Given the description of an element on the screen output the (x, y) to click on. 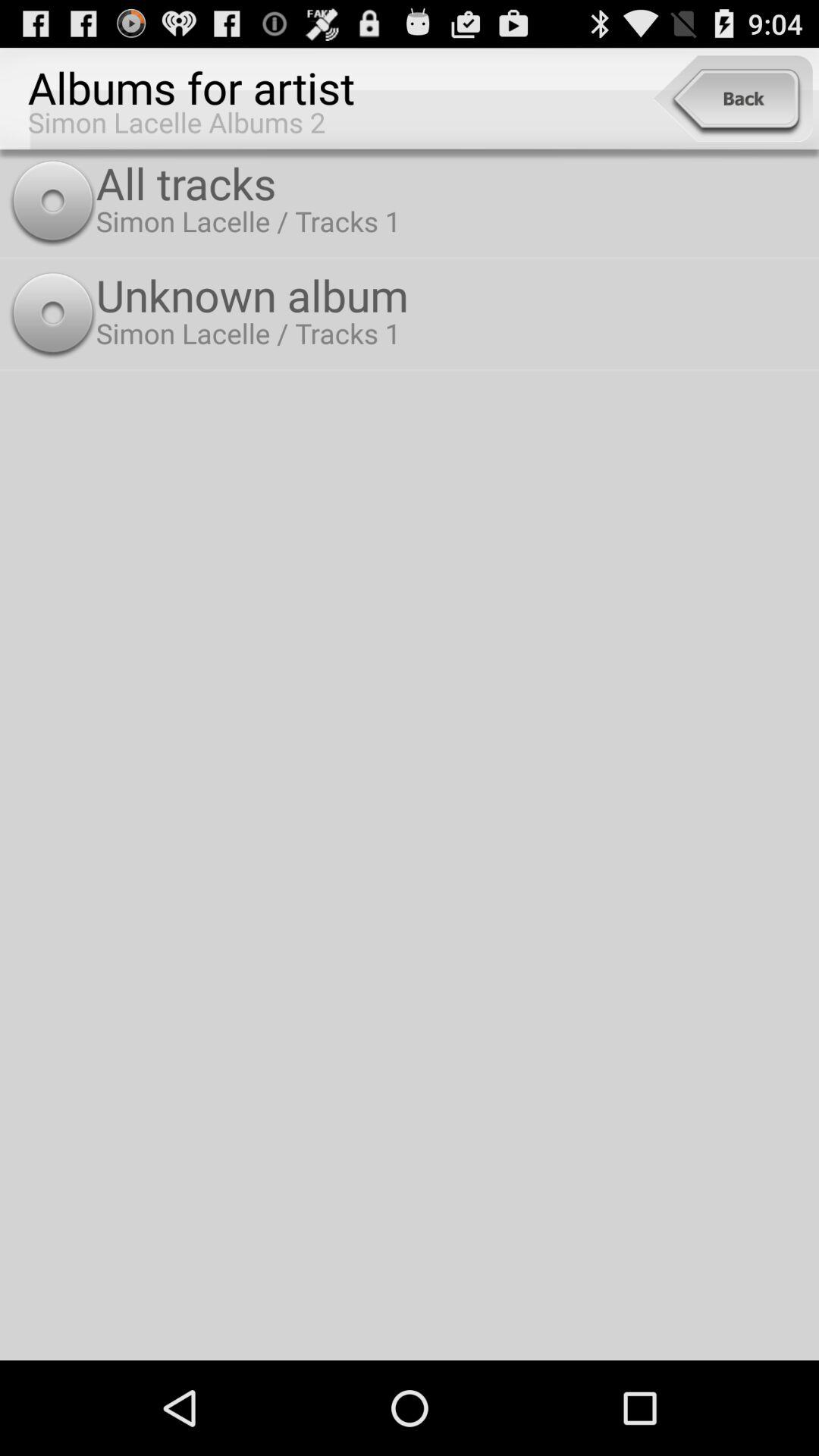
press icon above the unknown album icon (454, 182)
